Given the description of an element on the screen output the (x, y) to click on. 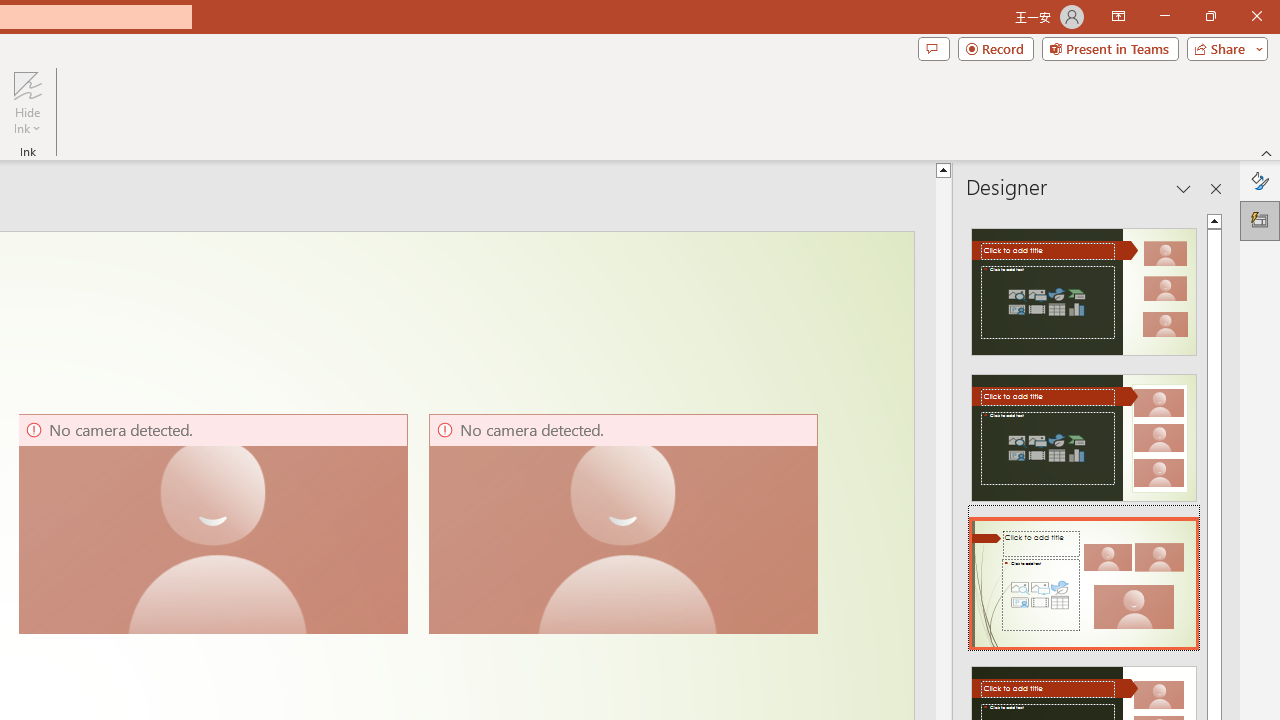
Hide Ink (27, 84)
Camera 5, No camera detected. (212, 524)
Hide Ink (27, 102)
Design Idea (1083, 577)
